Given the description of an element on the screen output the (x, y) to click on. 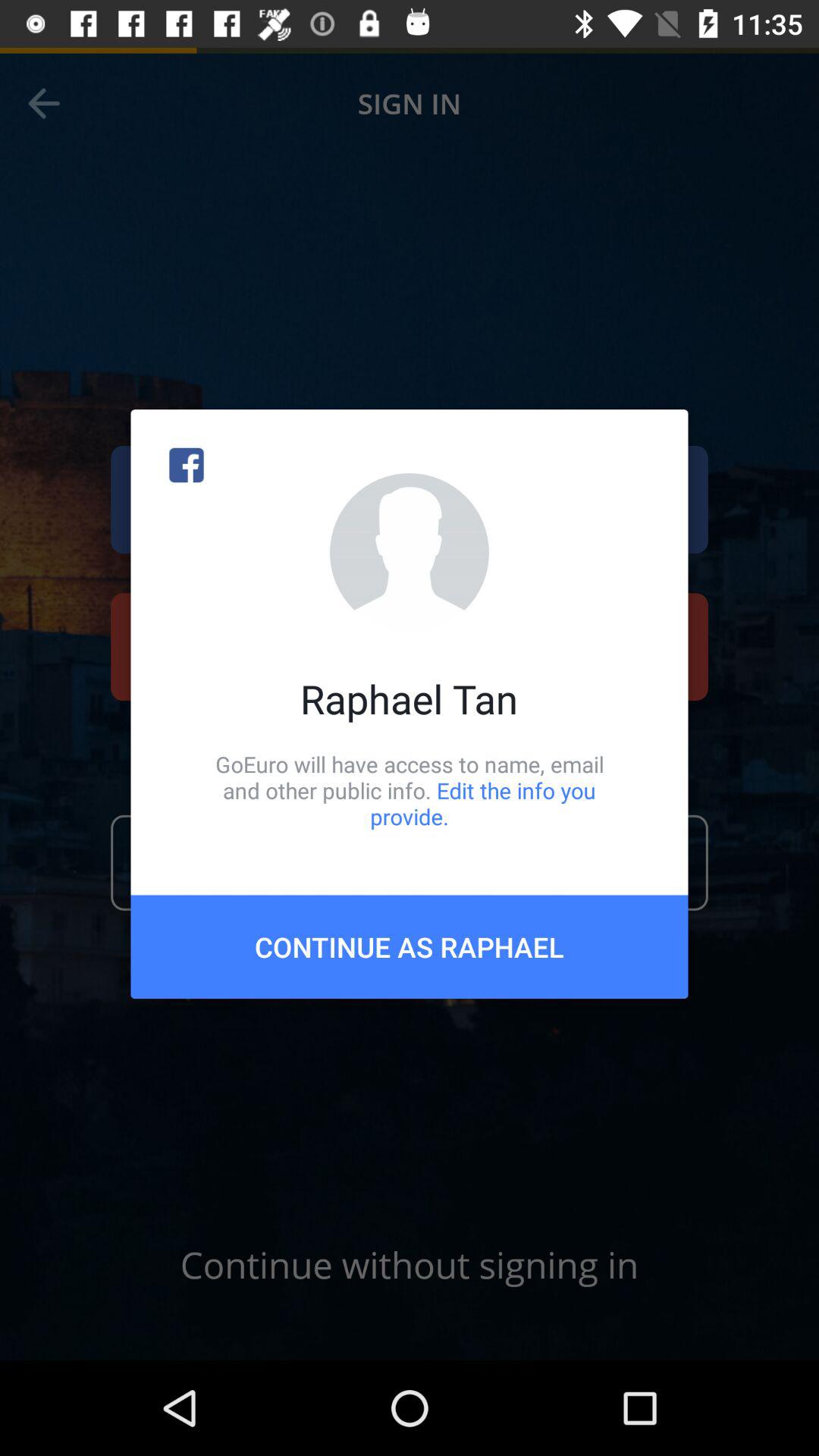
swipe to the goeuro will have icon (409, 790)
